Given the description of an element on the screen output the (x, y) to click on. 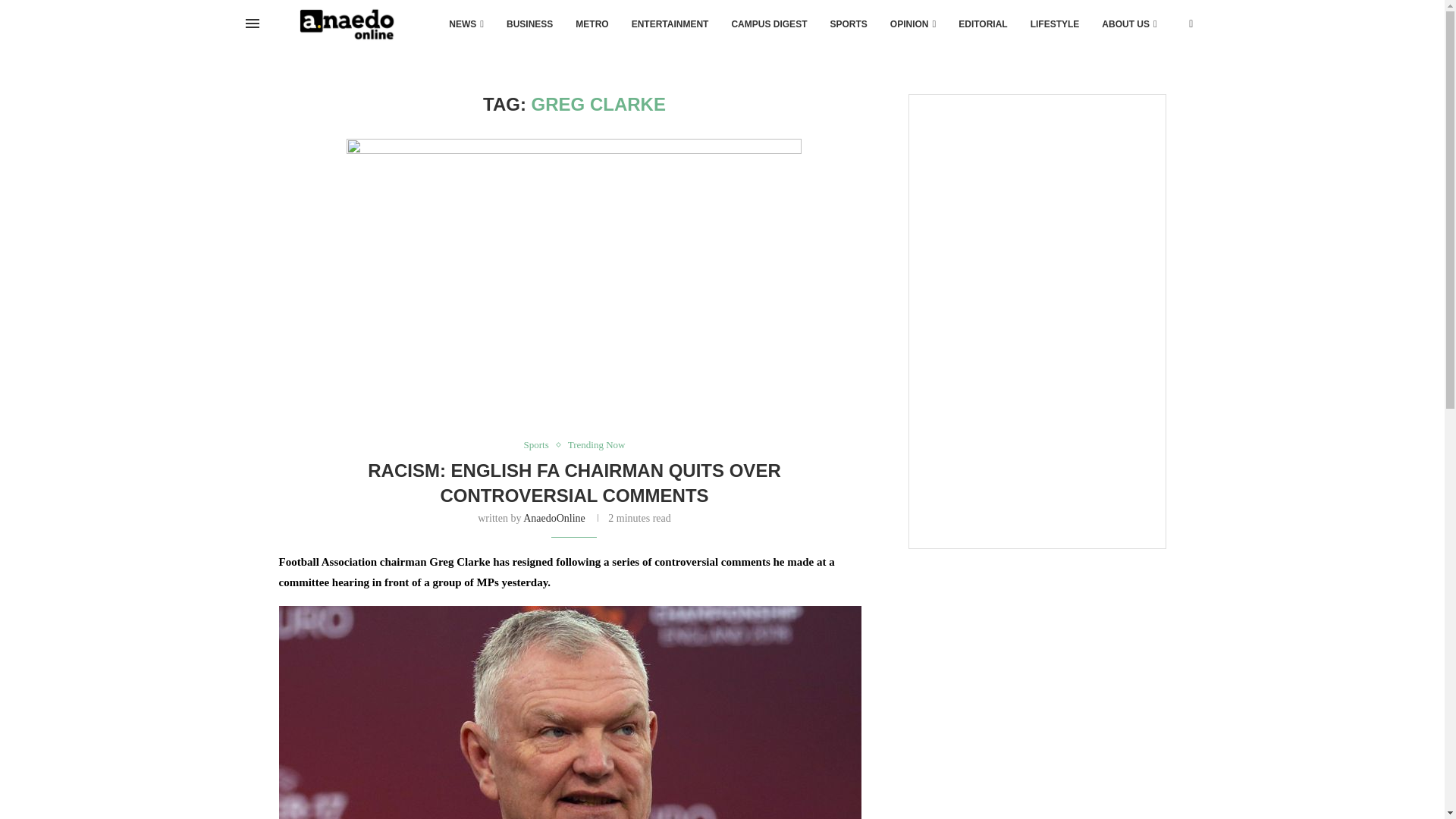
Advertisement (1036, 203)
157701a1-3e0e-4945-9949-4798ad42d44d (574, 280)
SPORTS (847, 23)
BUSINESS (529, 23)
CAMPUS DIGEST (768, 23)
EDITORIAL (982, 23)
Advertisement (1036, 438)
METRO (592, 23)
ENTERTAINMENT (670, 23)
NEWS (466, 23)
